Given the description of an element on the screen output the (x, y) to click on. 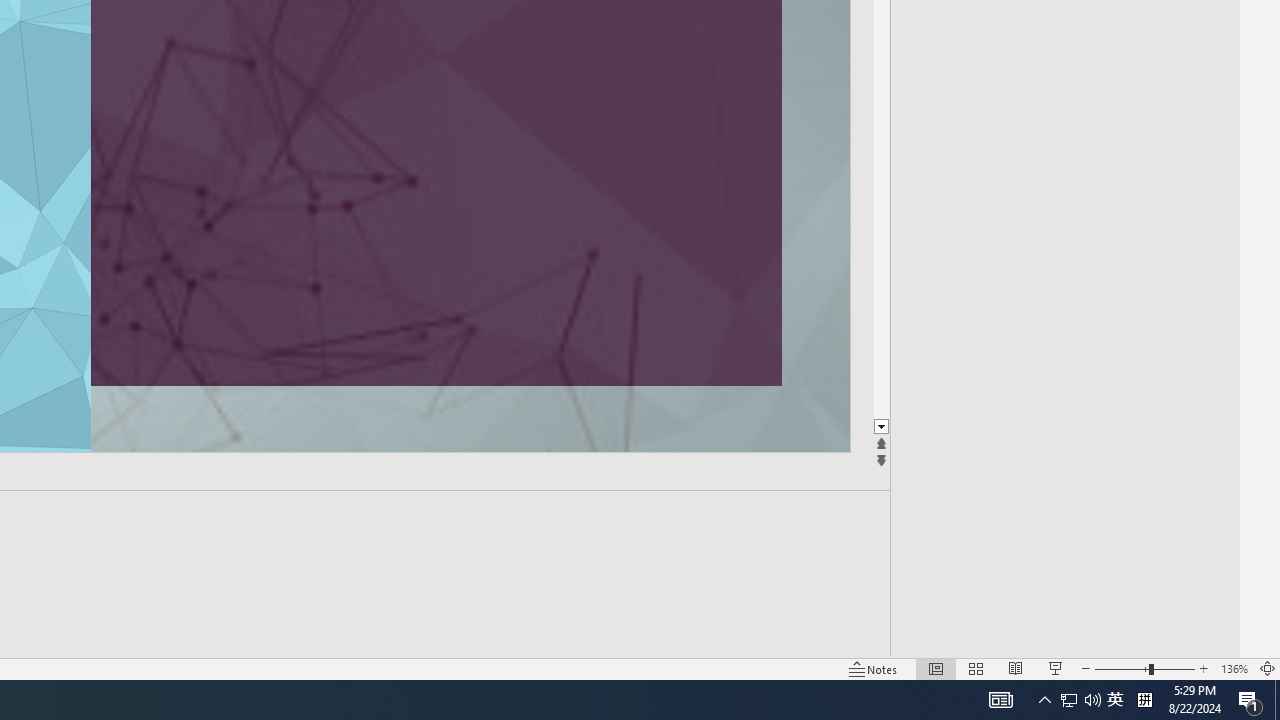
Zoom 136% (1234, 668)
Notes  (874, 668)
Line down (880, 427)
